Given the description of an element on the screen output the (x, y) to click on. 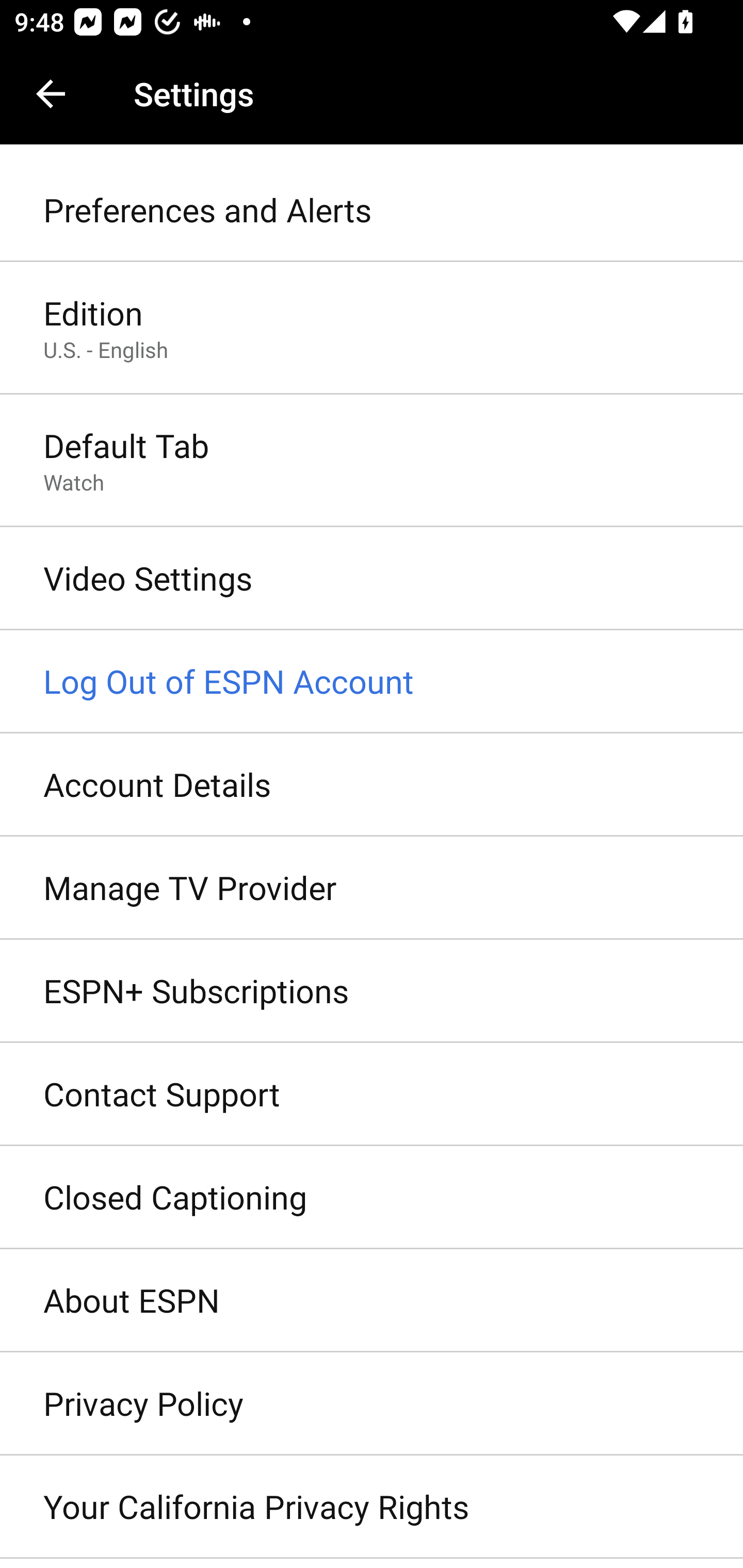
Navigate up (50, 93)
Preferences and Alerts (371, 209)
Edition U.S. - English (371, 328)
Default Tab Watch (371, 461)
Video Settings (371, 578)
Log Out of ESPN Account (371, 681)
Account Details (371, 785)
Manage TV Provider (371, 888)
ESPN+ Subscriptions (371, 990)
Contact Support (371, 1094)
Closed Captioning (371, 1197)
About ESPN (371, 1301)
Privacy Policy (371, 1403)
Your California Privacy Rights (371, 1506)
